Given the description of an element on the screen output the (x, y) to click on. 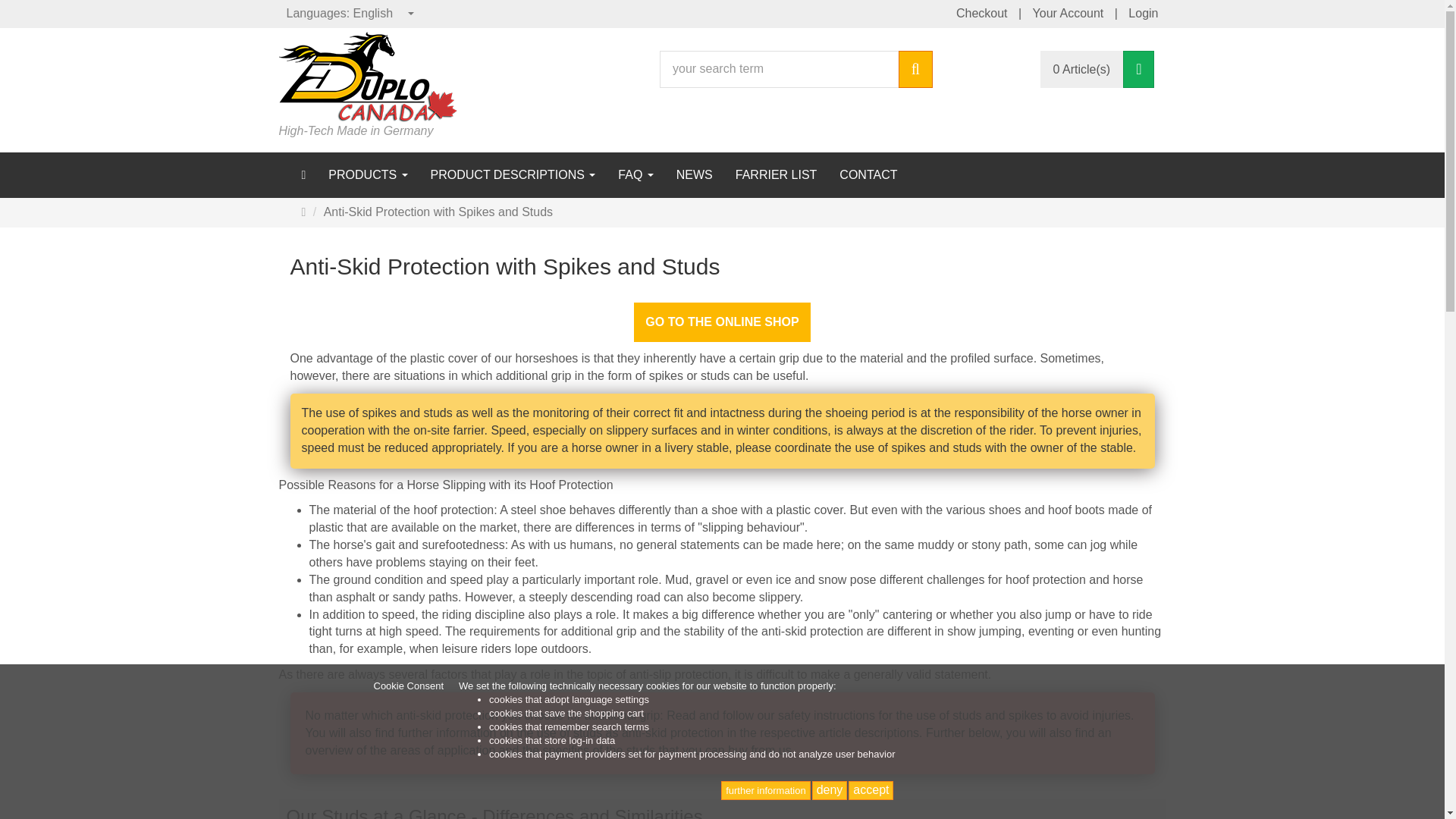
Login (1143, 13)
search (915, 68)
Languages: English (351, 13)
Checkout (981, 13)
Languages: English (351, 13)
Anti-Skid Protection with Spikes and Studs (430, 212)
Your Account (1068, 13)
Duplo Composite Horseshoes Canada (368, 75)
PRODUCT DESCRIPTIONS (513, 175)
PRODUCTS (368, 175)
